Given the description of an element on the screen output the (x, y) to click on. 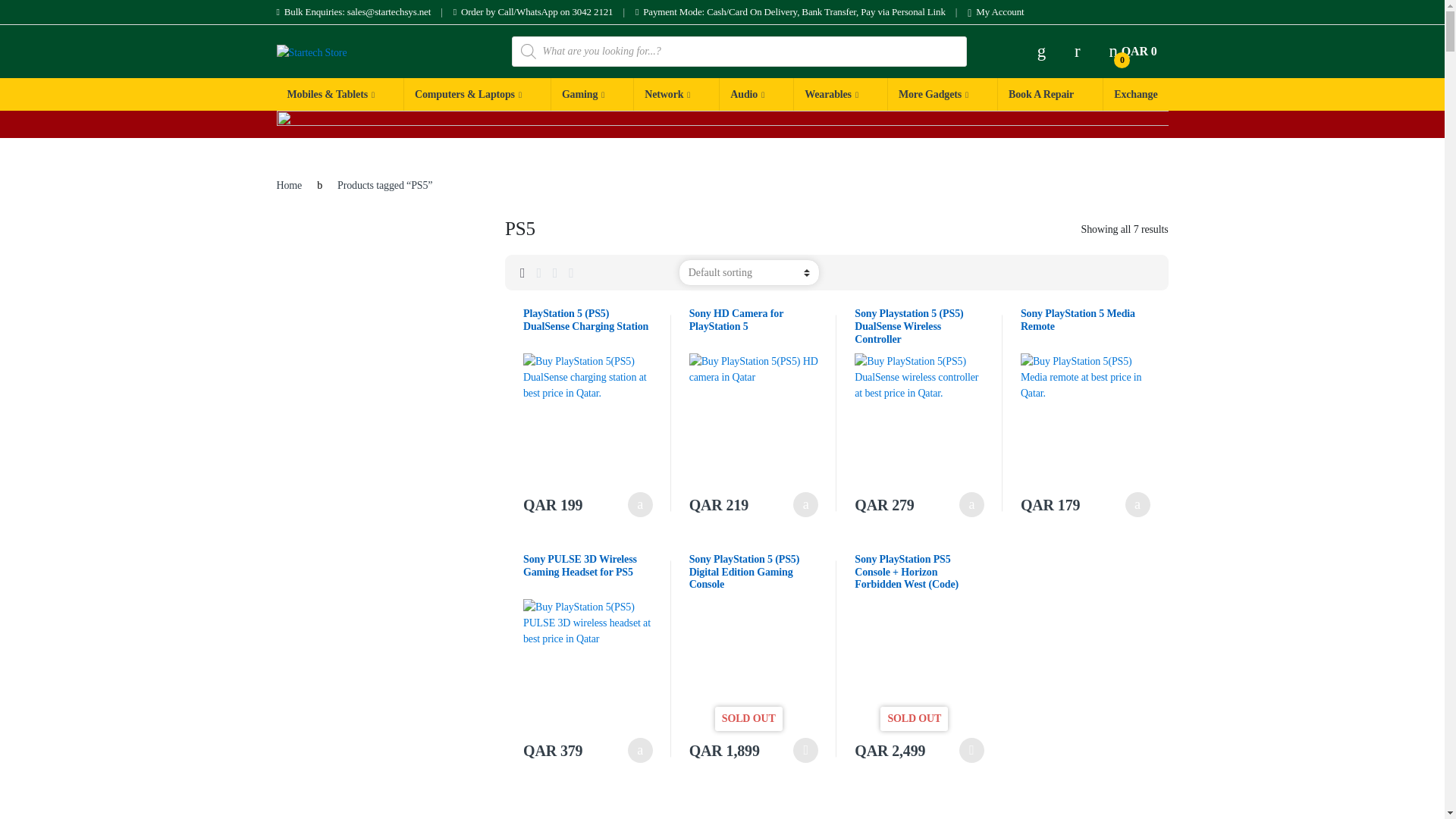
My Account (994, 11)
More Gadgets (932, 93)
Gaming (582, 93)
Book A Repair (1040, 93)
Network (666, 93)
Audio (1132, 51)
Exchange (746, 93)
Wearables (1134, 93)
